Given the description of an element on the screen output the (x, y) to click on. 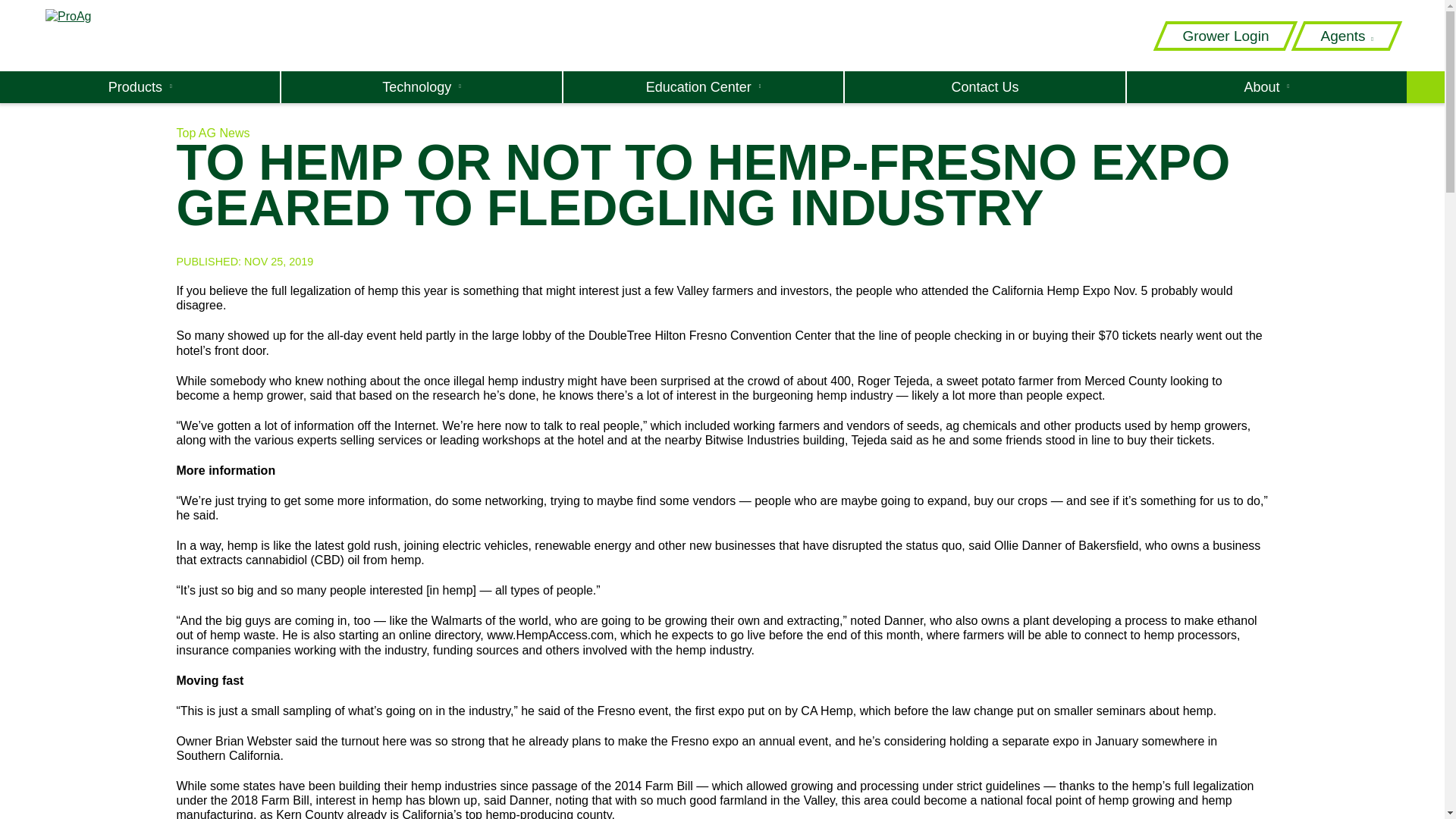
Search (1010, 78)
Search (1010, 78)
Grower Login (1225, 36)
Products (139, 87)
Agents (1346, 36)
